Given the description of an element on the screen output the (x, y) to click on. 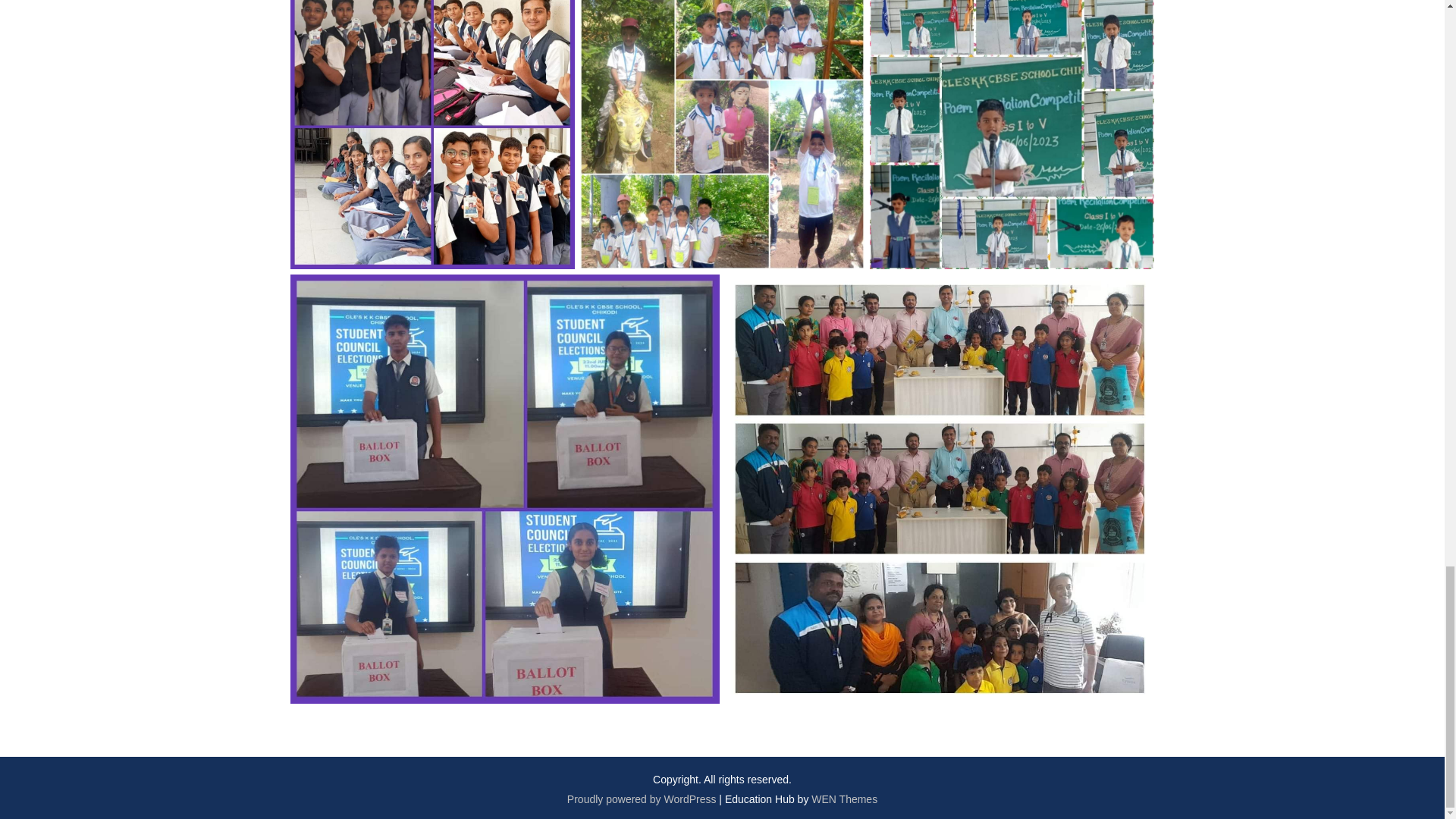
Proudly powered by WordPress (641, 799)
WEN Themes (843, 799)
